Given the description of an element on the screen output the (x, y) to click on. 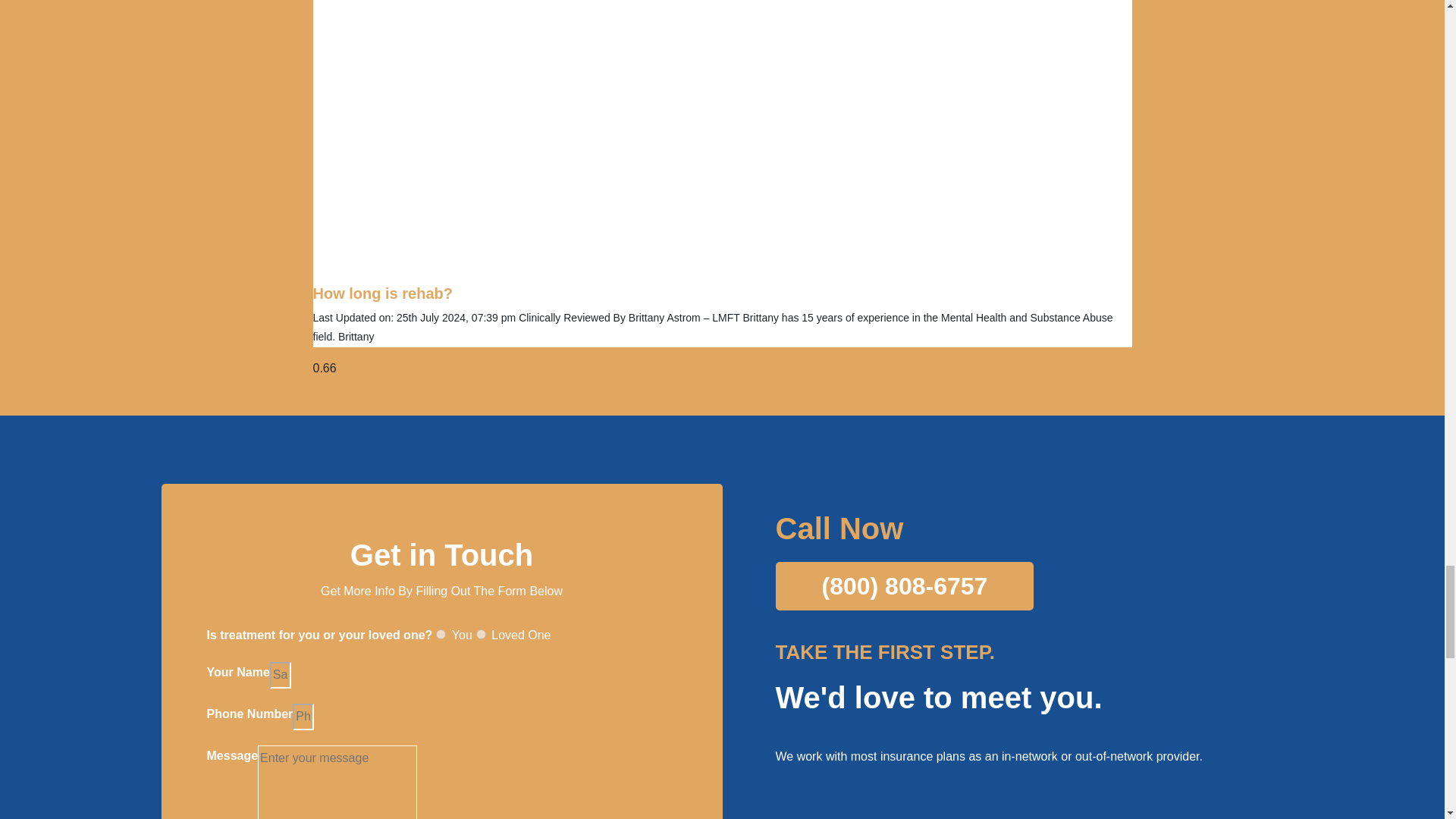
Loved One (481, 634)
You (440, 634)
